Given the description of an element on the screen output the (x, y) to click on. 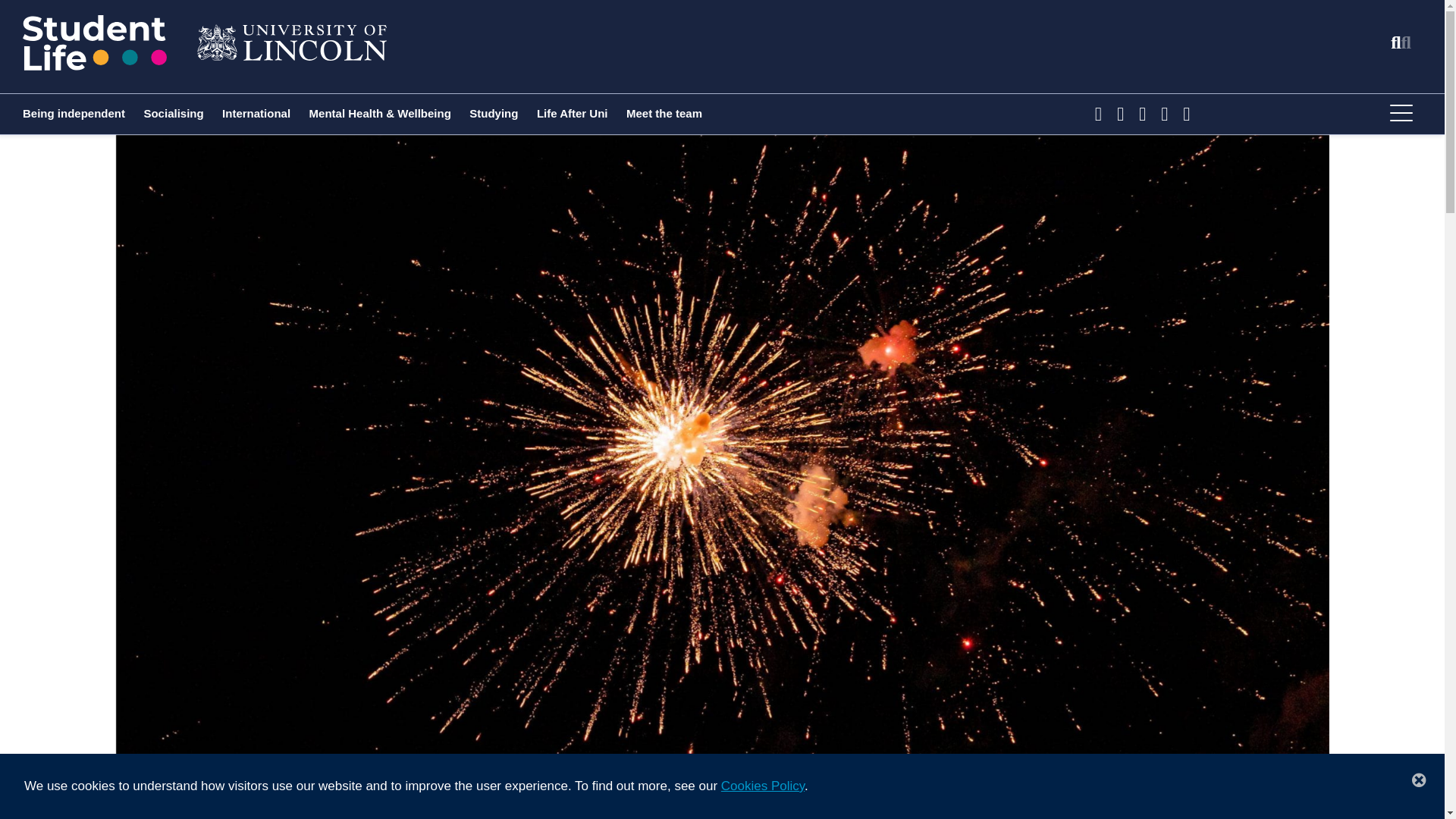
University of Lincoln Student Life (95, 42)
Studying (493, 113)
Being independent (74, 113)
University of Lincoln (291, 42)
International (255, 113)
Socialising (172, 113)
